Given the description of an element on the screen output the (x, y) to click on. 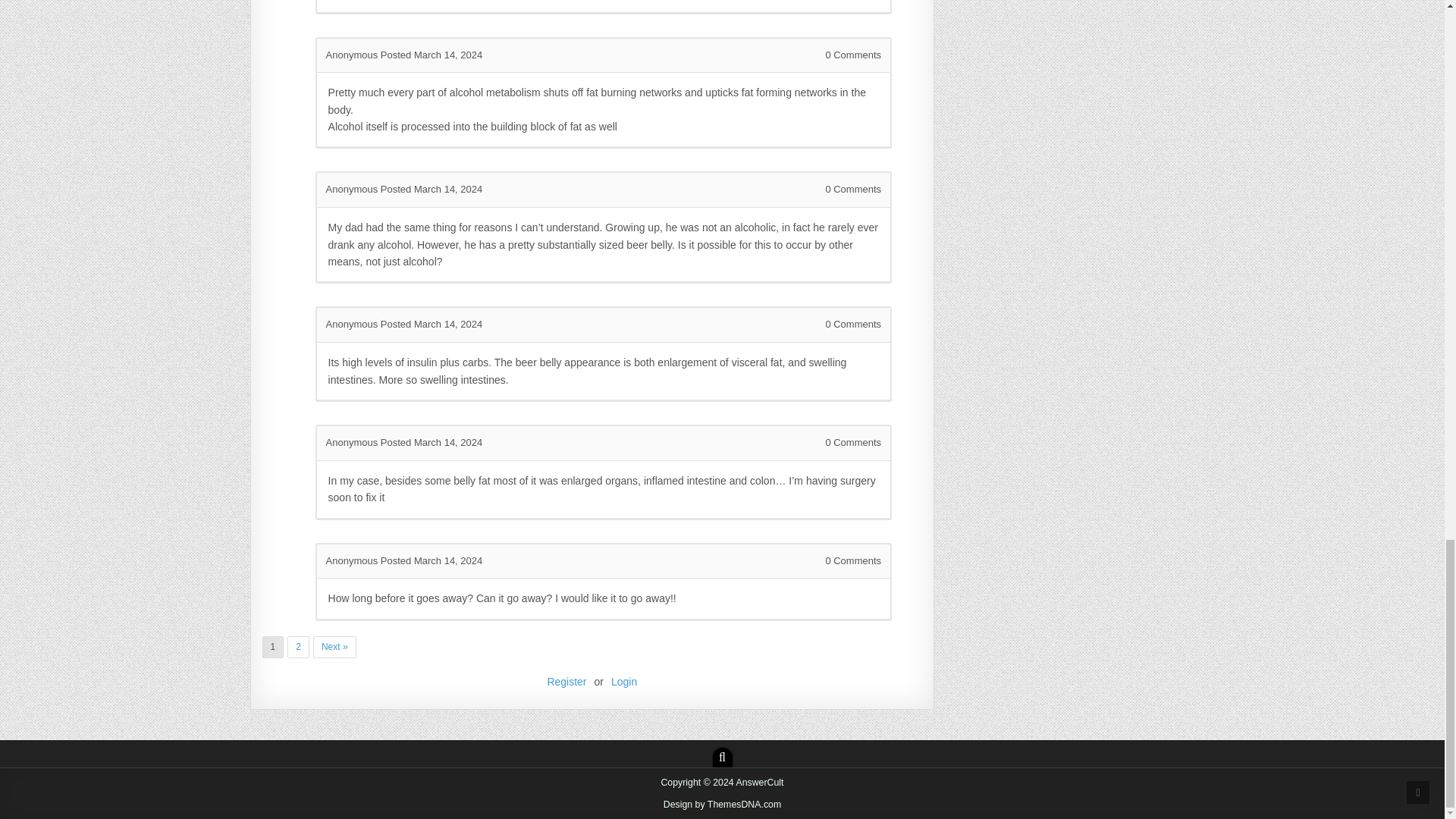
Posted March 14, 2024 (430, 188)
Search (722, 757)
Posted March 14, 2024 (430, 54)
